Given the description of an element on the screen output the (x, y) to click on. 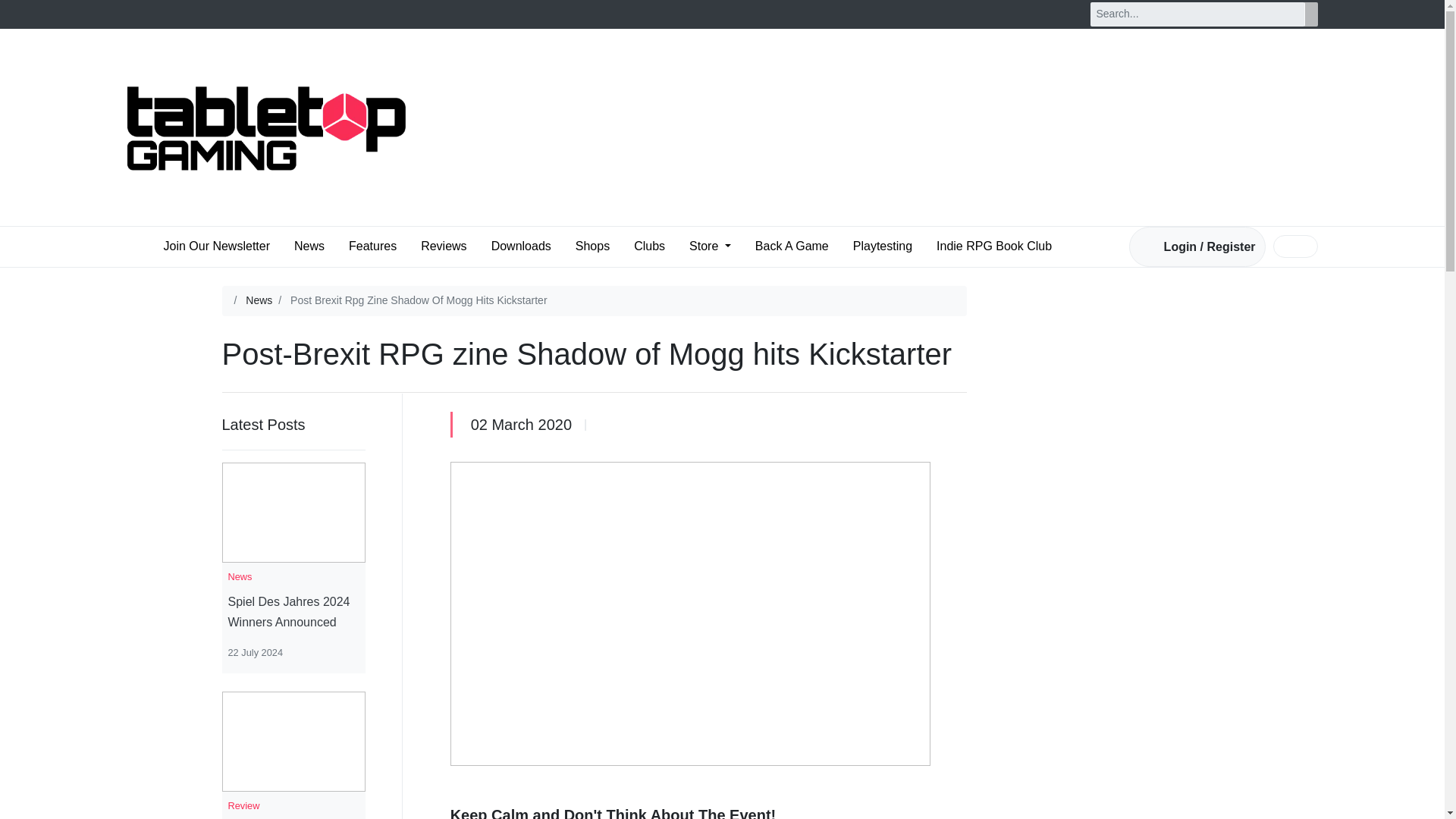
Features (372, 246)
Spiel Des Jahres 2024 Winners Announced (292, 611)
Shops (592, 246)
Join Our Newsletter (216, 246)
Downloads (520, 246)
Playtesting (882, 246)
Store (709, 246)
Indie RPG Book Club (994, 246)
Reviews (442, 246)
Back A Game (791, 246)
News (309, 246)
Clubs (649, 246)
News (259, 300)
